Given the description of an element on the screen output the (x, y) to click on. 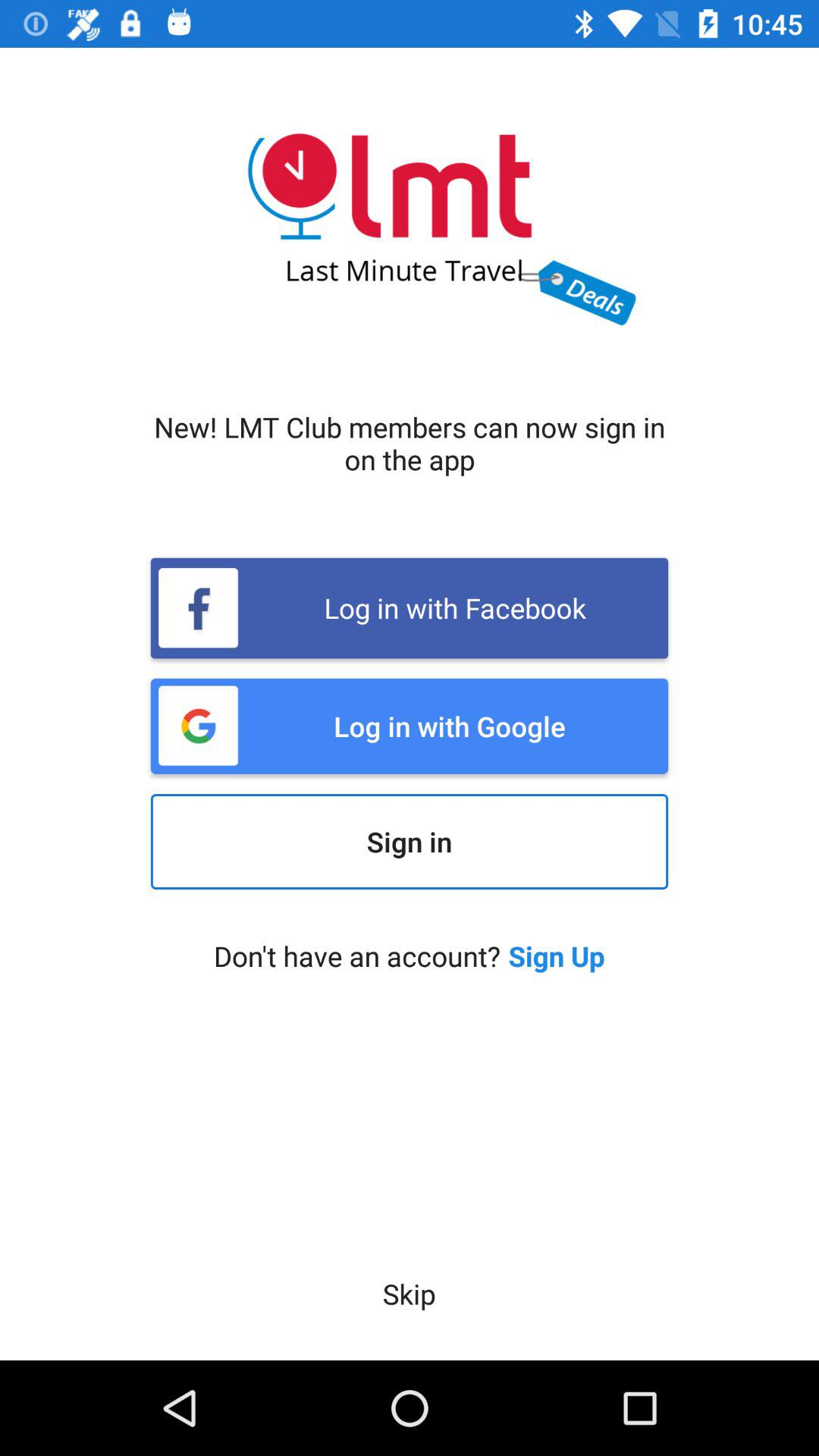
turn off the icon to the right of don t have (556, 955)
